Given the description of an element on the screen output the (x, y) to click on. 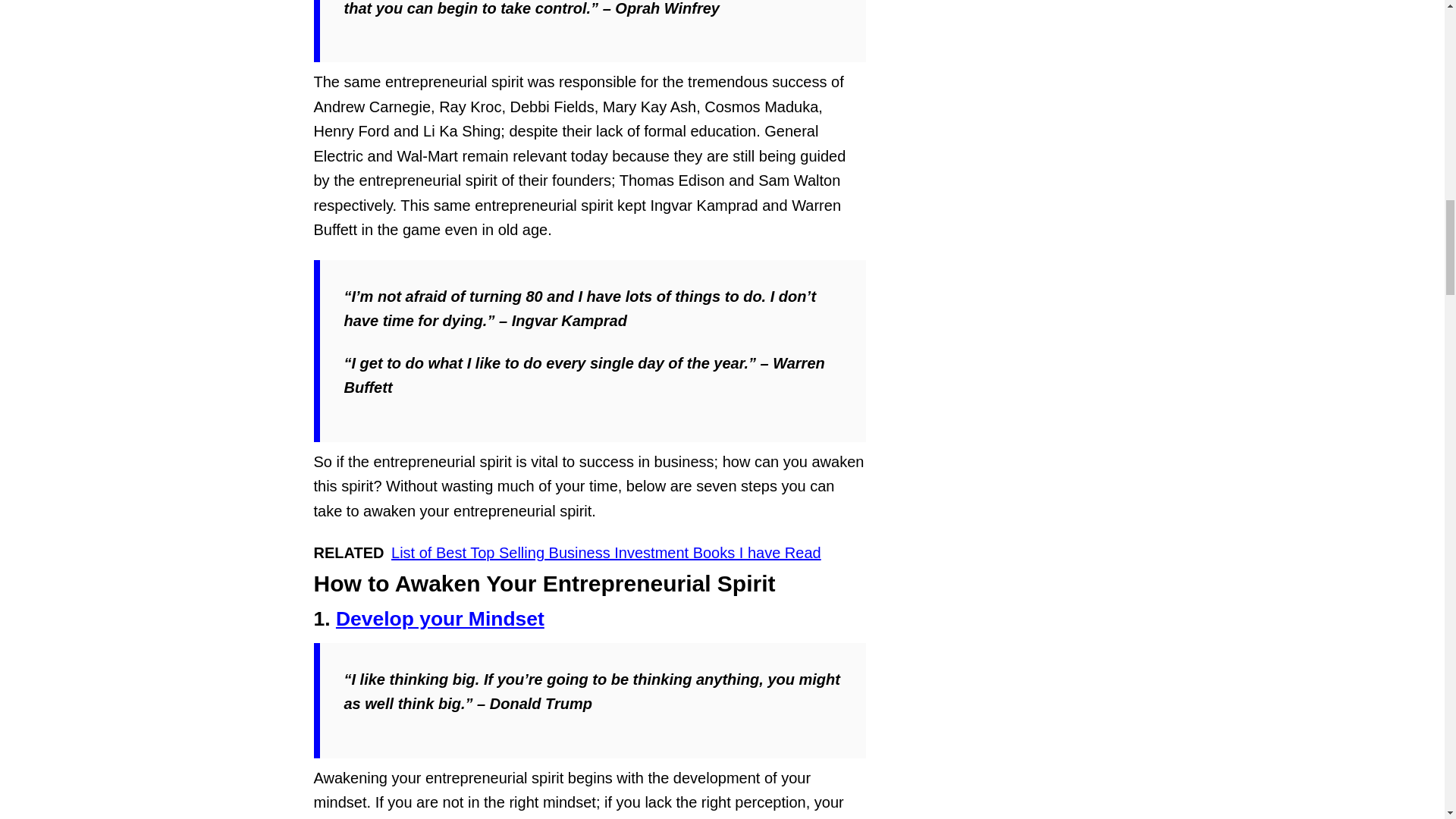
How to Think like a Billionaire (440, 618)
Develop your Mindset (440, 618)
